Given the description of an element on the screen output the (x, y) to click on. 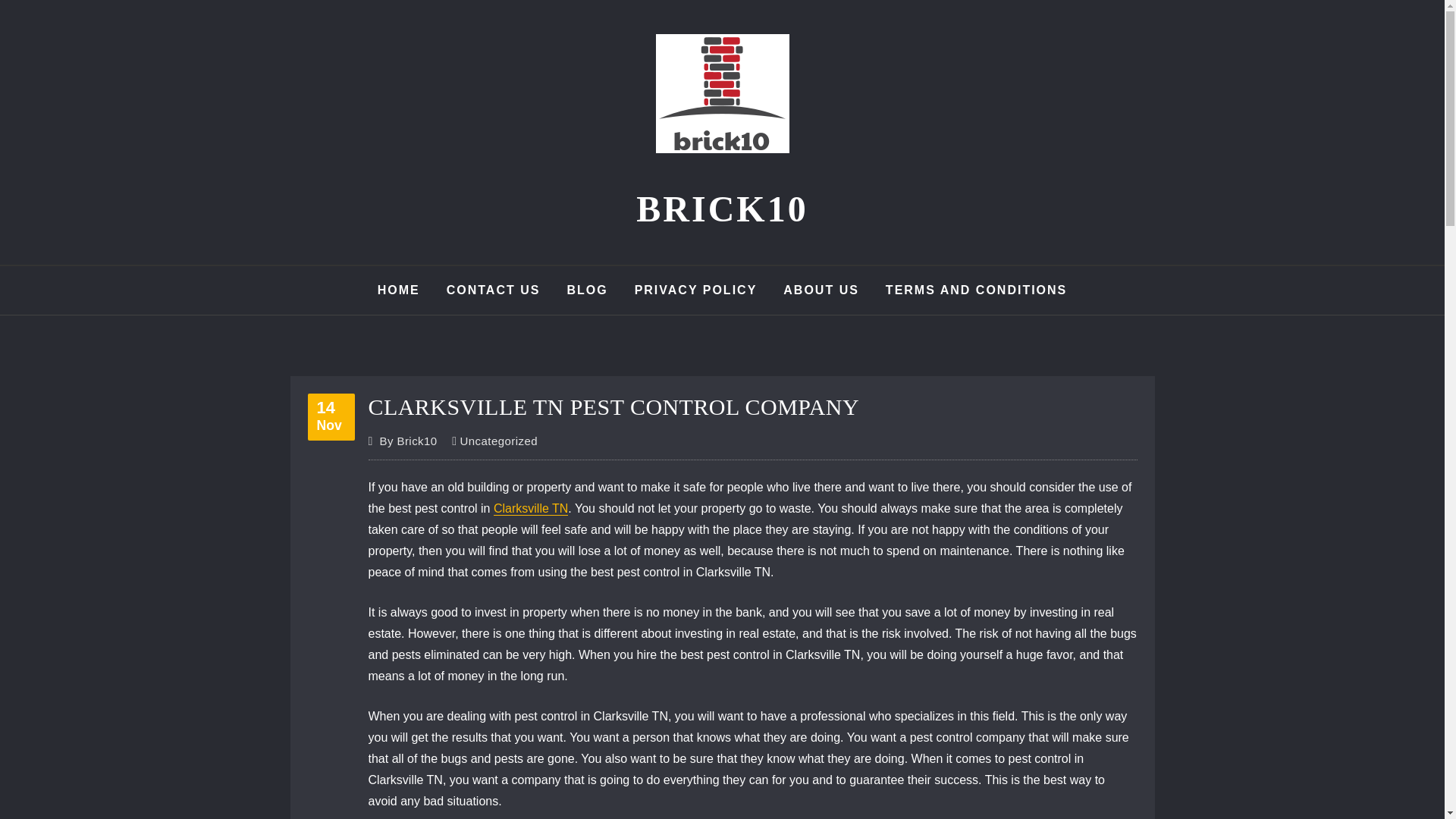
BRICK10 (330, 416)
By Brick10 (722, 209)
Uncategorized (407, 441)
Clarksville TN (499, 441)
BLOG (530, 508)
HOME (586, 290)
PRIVACY POLICY (398, 290)
ABOUT US (695, 290)
CONTACT US (821, 290)
